Given the description of an element on the screen output the (x, y) to click on. 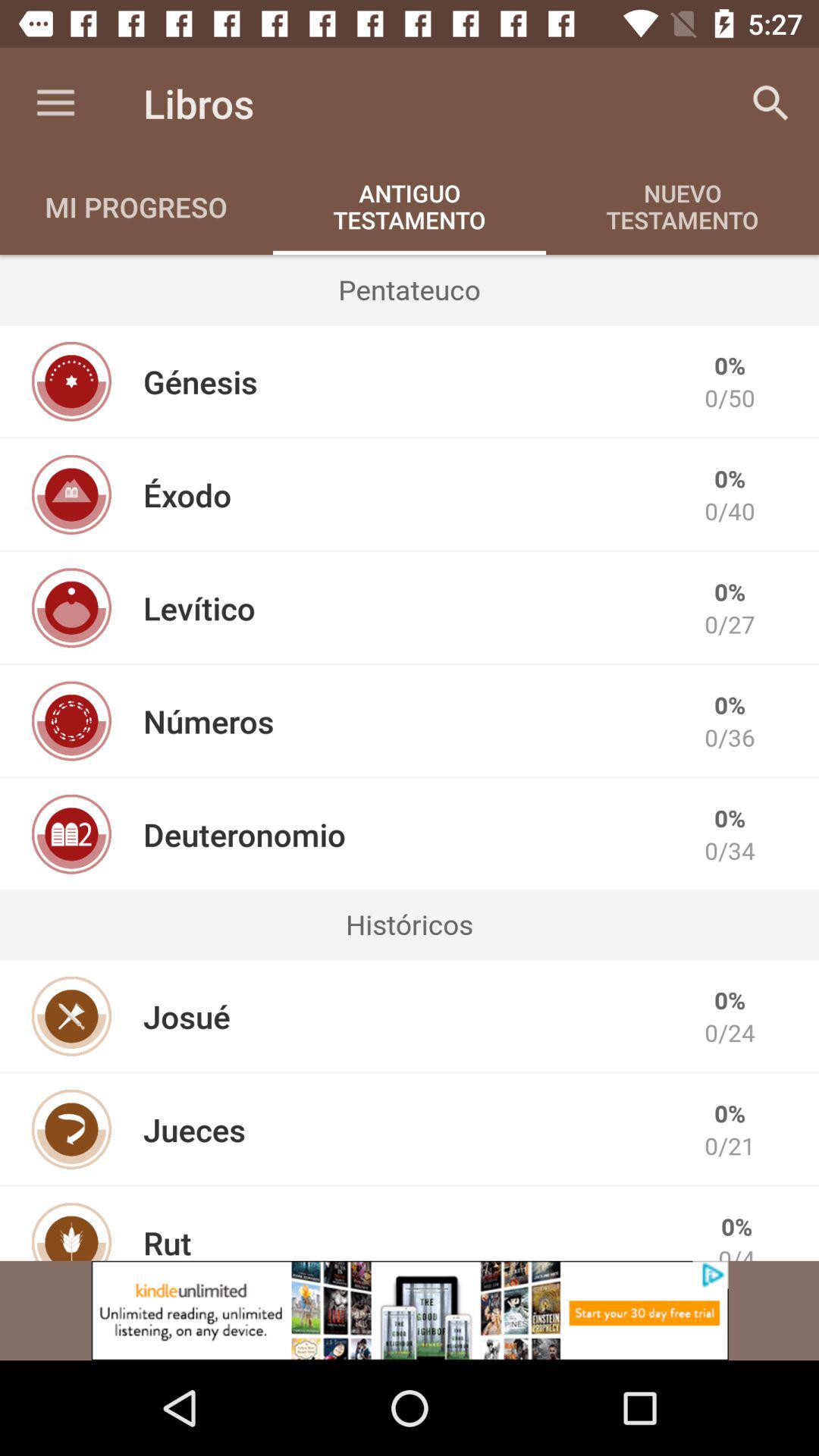
select the item above the nuevo testamento item (771, 103)
